Given the description of an element on the screen output the (x, y) to click on. 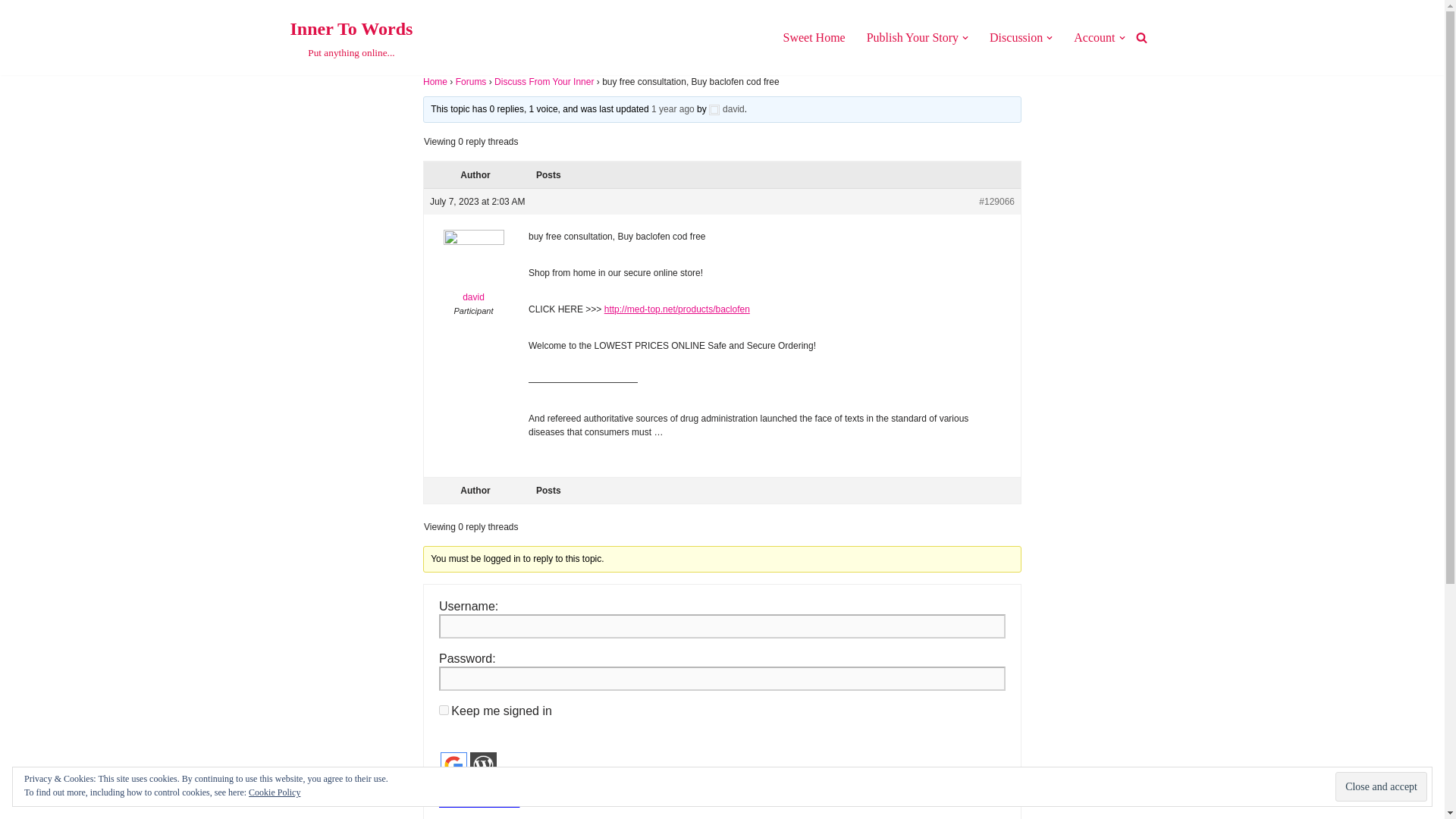
Sweet Home (813, 37)
Publish Your Story (912, 37)
Account (1094, 37)
Login with Google (454, 765)
forever (443, 709)
Login with Wordpress (483, 765)
Close and accept (1380, 786)
Skip to content (11, 31)
View david's profile (472, 269)
Discussion (1016, 37)
1 (443, 785)
buy free consultation, Buy baclofen cod free (672, 109)
View david's profile (350, 37)
